Given the description of an element on the screen output the (x, y) to click on. 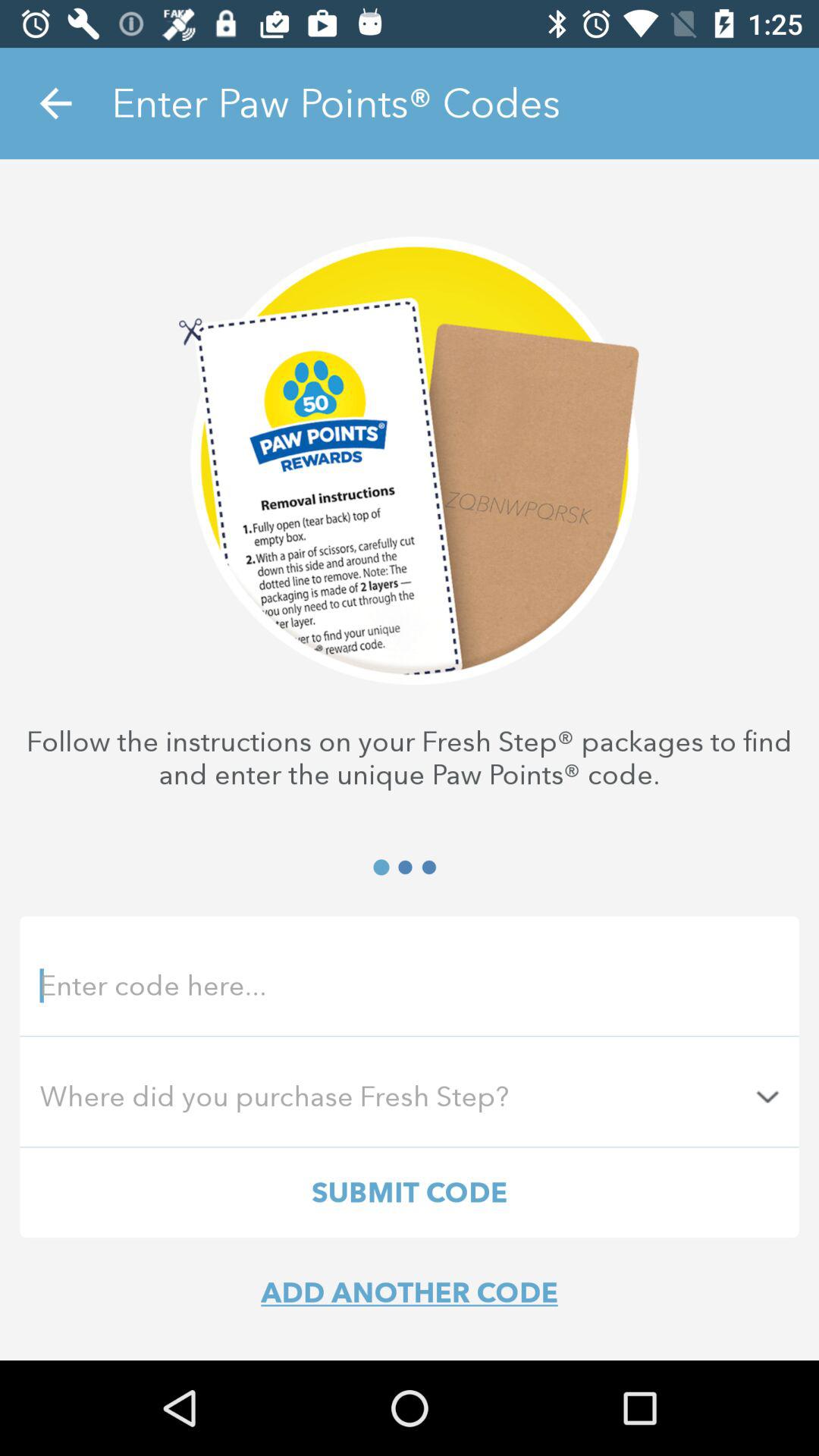
turn on item above the follow the instructions (55, 103)
